Given the description of an element on the screen output the (x, y) to click on. 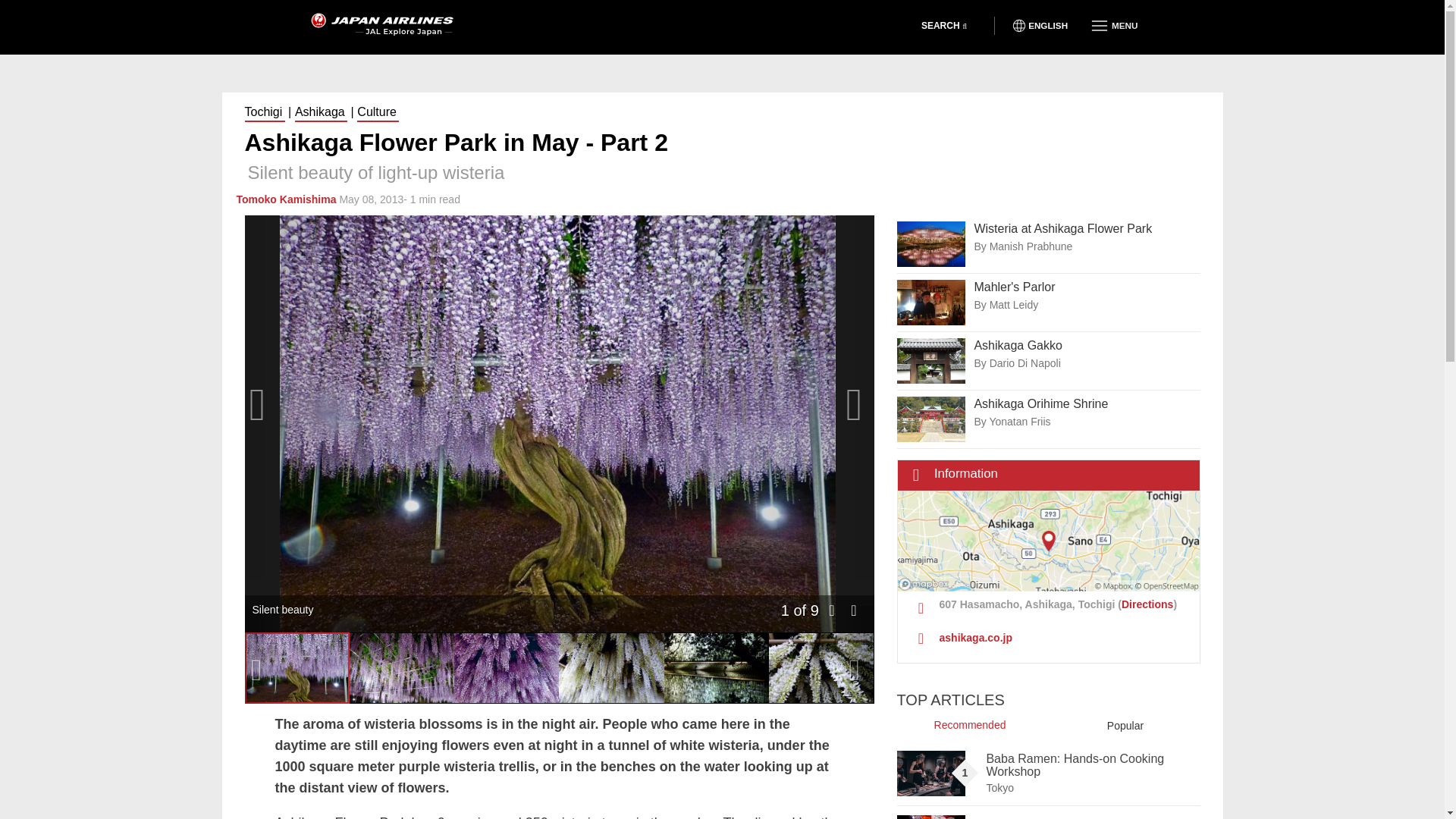
Fantasitc reflection of white wisteria (715, 667)
Elegant and noble (820, 667)
Silent beauty (296, 667)
Oh-nagafuji wisteria at night (401, 667)
Baba Ramen: Hands-on Cooking Workshop (930, 773)
Tokyo Ghoul Exposition 2024 (930, 816)
Address (1048, 606)
White wisteria (611, 667)
Full of brightness (506, 667)
